Given the description of an element on the screen output the (x, y) to click on. 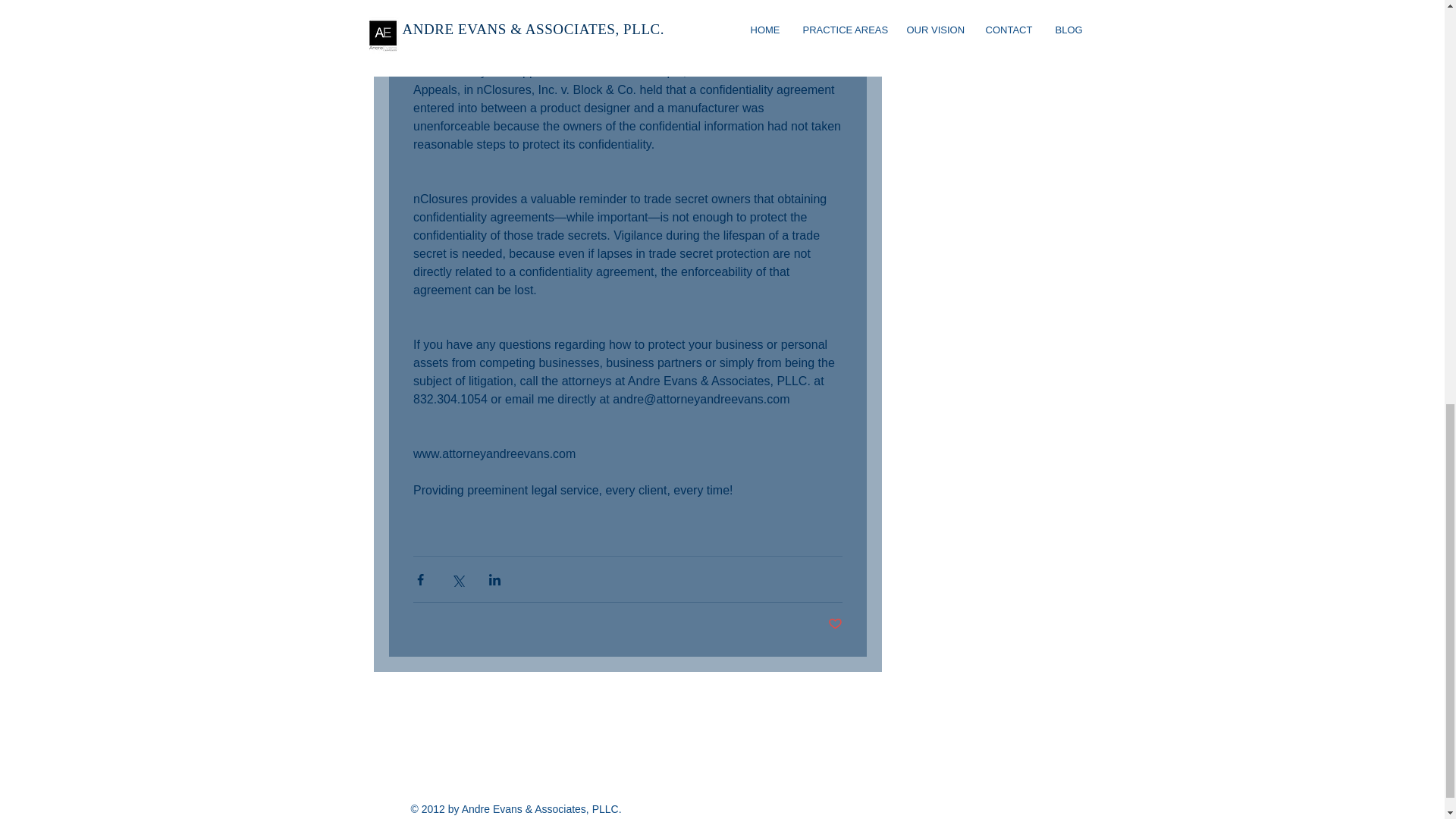
Post not marked as liked (835, 624)
